Given the description of an element on the screen output the (x, y) to click on. 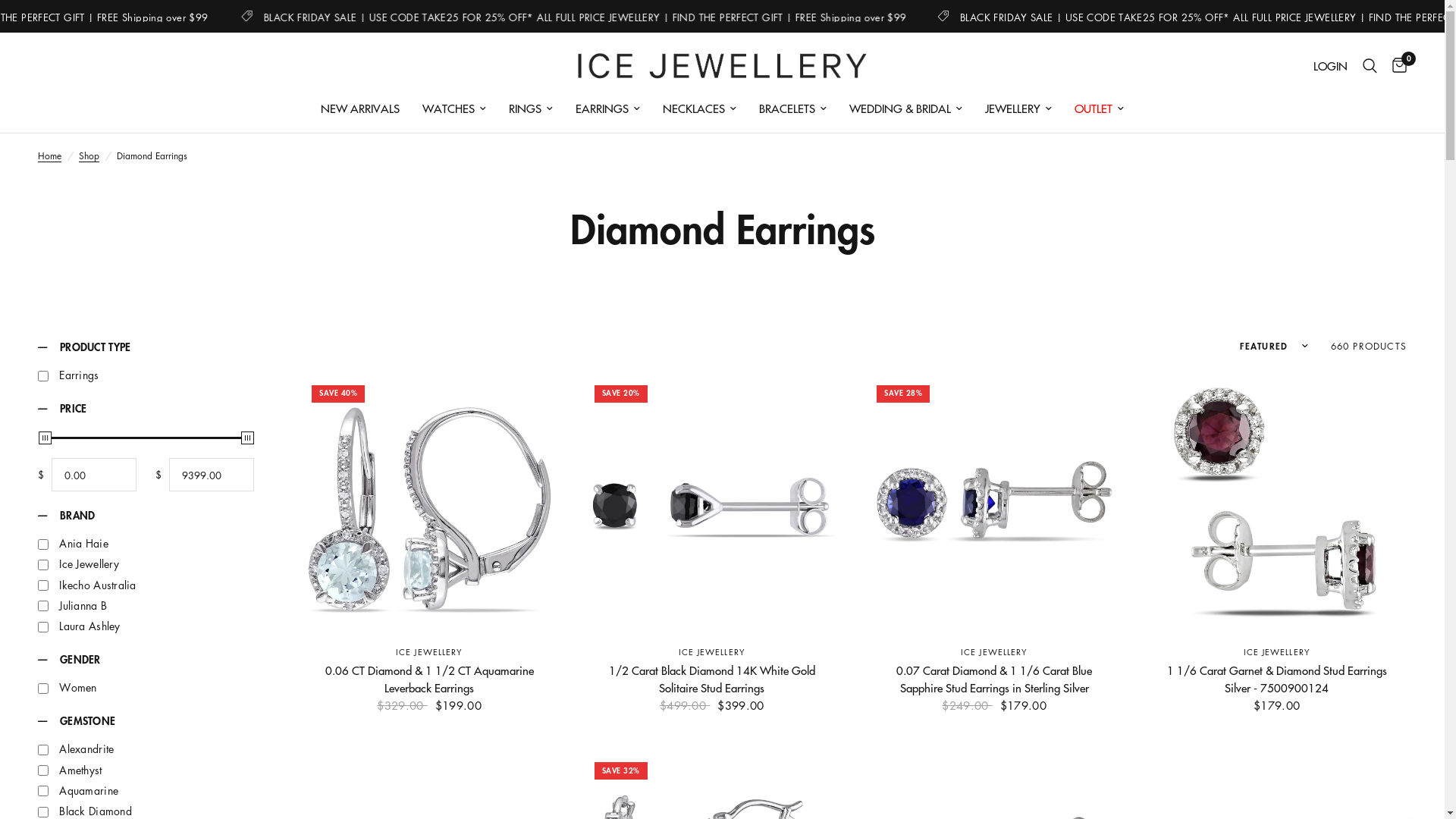
JEWELLERY Element type: text (1018, 108)
Home Element type: text (49, 155)
ICE JEWELLERY Element type: text (711, 651)
NECKLACES Element type: text (699, 108)
WATCHES Element type: text (454, 108)
OUTLET Element type: text (1098, 108)
RINGS Element type: text (530, 108)
LOGIN Element type: text (1330, 65)
ICE JEWELLERY Element type: text (993, 651)
ICE JEWELLERY Element type: text (428, 651)
NEW ARRIVALS Element type: text (359, 108)
EARRINGS Element type: text (607, 108)
BRACELETS Element type: text (792, 108)
WEDDING & BRIDAL Element type: text (905, 108)
Search Element type: hover (1369, 65)
0.06 CT Diamond & 1 1/2 CT Aquamarine Leverback Earrings Element type: text (429, 679)
Shop Element type: text (88, 155)
ICE JEWELLERY Element type: text (1276, 651)
0 Element type: text (1395, 65)
0.06 CT Diamond & 1 1/2 CT Aquamarine Leverback Earrings Element type: hover (429, 503)
